Given the description of an element on the screen output the (x, y) to click on. 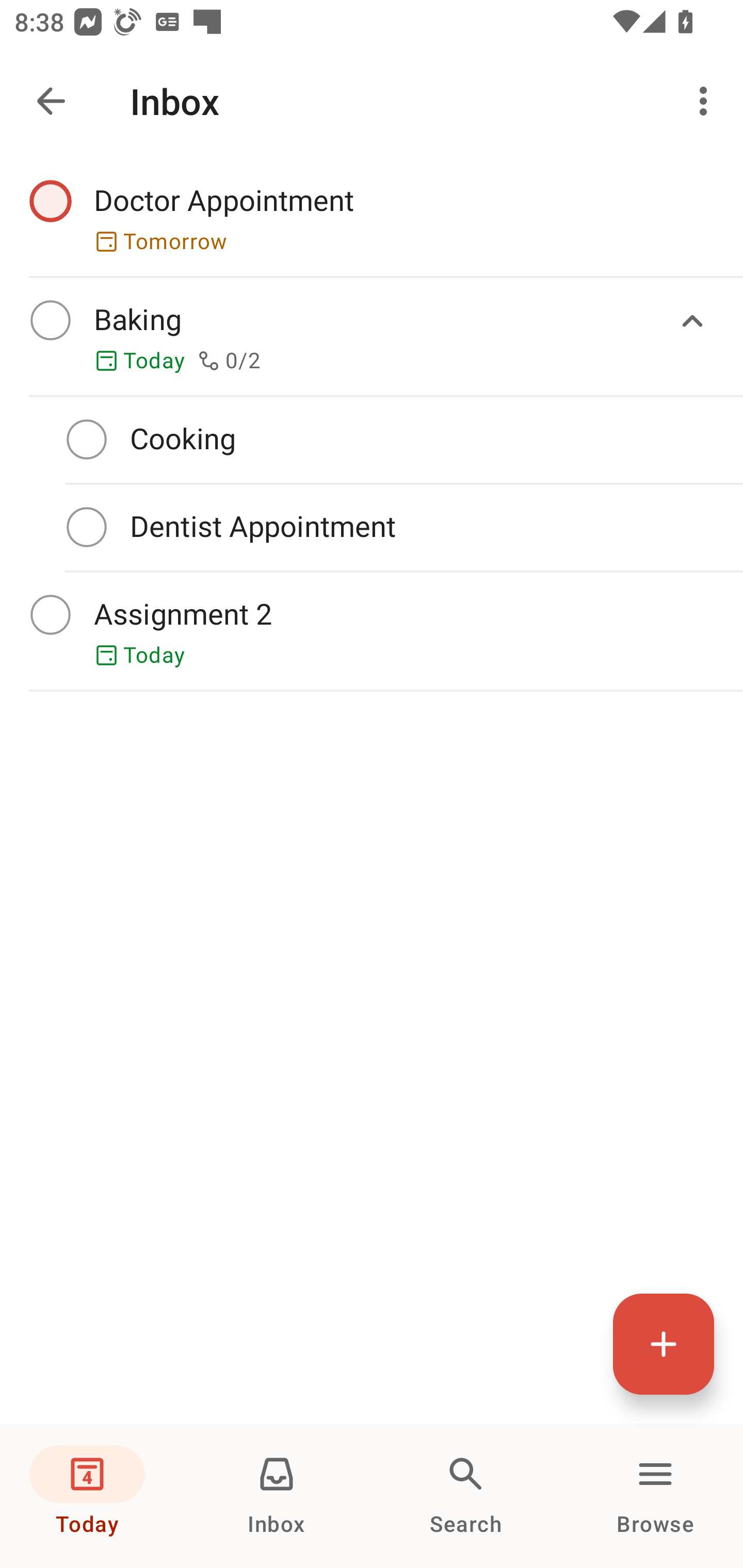
Navigate up Inbox More options (371, 100)
Navigate up (50, 101)
More options (706, 101)
Complete Doctor Appointment Tomorrow (371, 216)
Complete (50, 200)
Complete Baking Today 0/2 Subtasks Expand/collapse (371, 336)
Complete (50, 319)
Expand/collapse (692, 321)
Complete Cooking (371, 439)
Complete (86, 438)
Complete Dentist Appointment (371, 527)
Complete (86, 526)
Complete Assignment 2 Today (371, 630)
Complete (50, 614)
Quick add (663, 1343)
Inbox (276, 1495)
Search (465, 1495)
Browse (655, 1495)
